Given the description of an element on the screen output the (x, y) to click on. 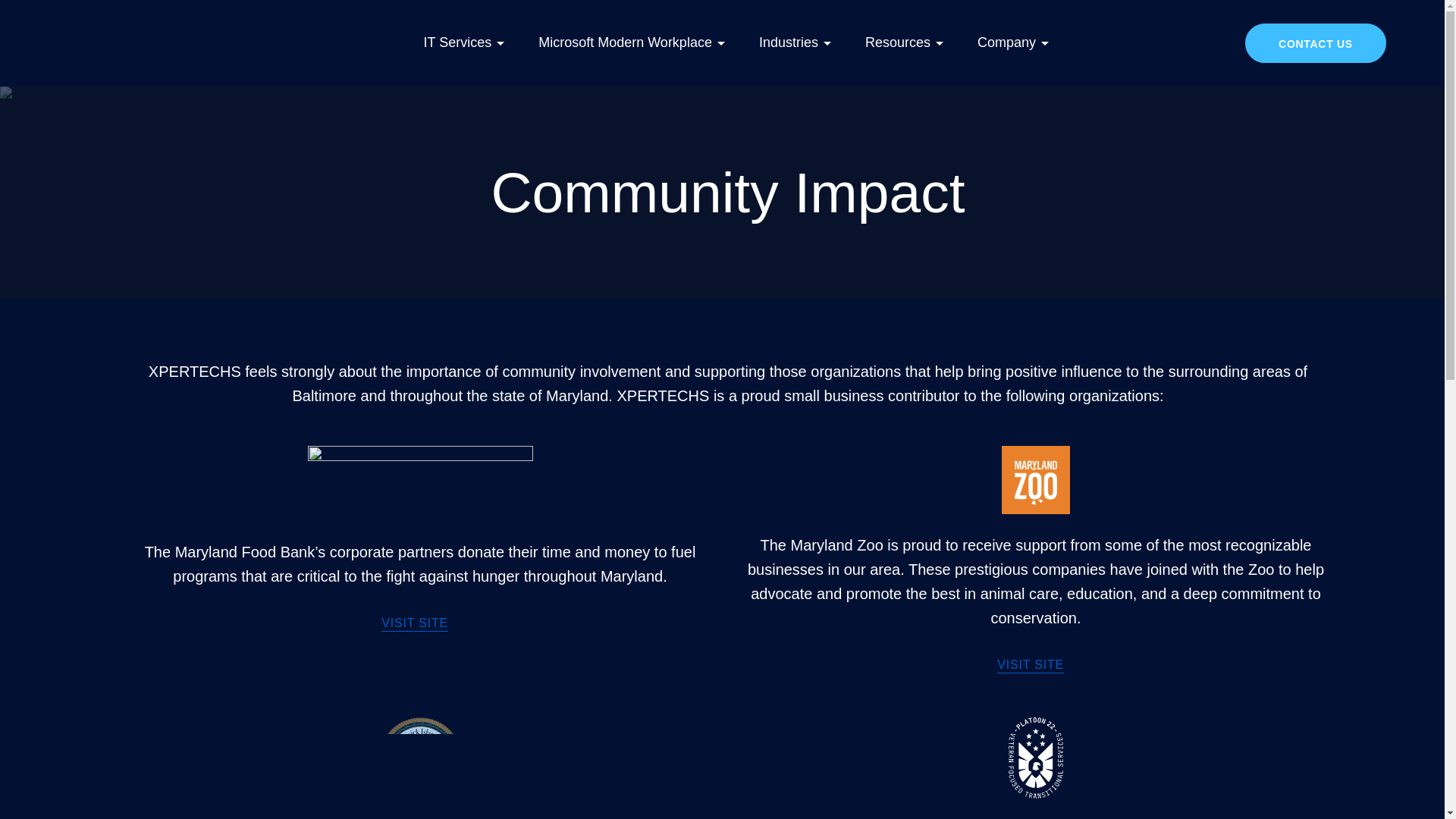
Microsoft Modern Workplace (631, 42)
Industries (794, 42)
Company (1013, 42)
CONTACT US (1315, 43)
IT Services (463, 42)
VISIT SITE (414, 623)
XPERTECHS (142, 42)
Resources (903, 42)
